Given the description of an element on the screen output the (x, y) to click on. 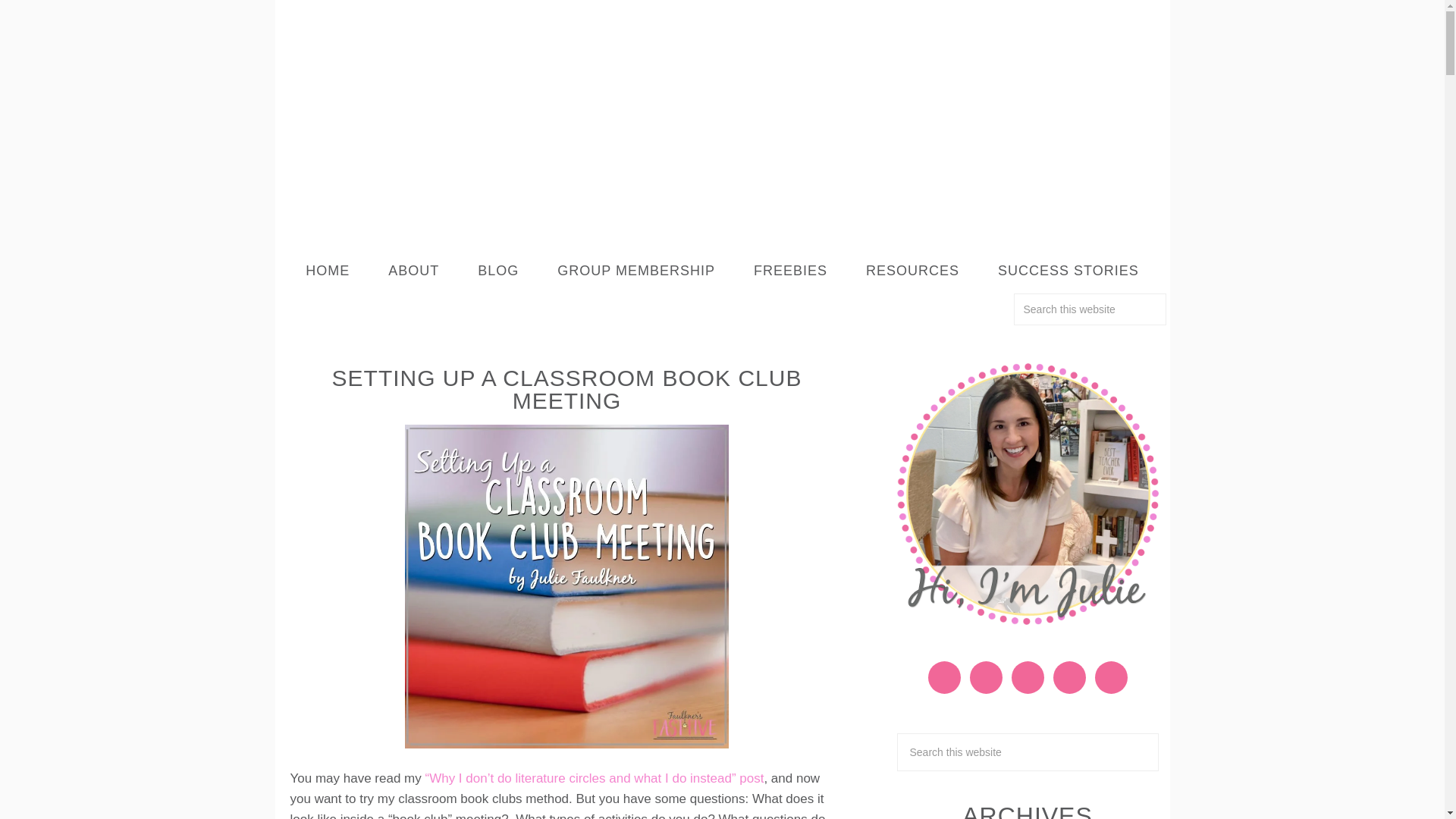
GROUP MEMBERSHIP (636, 270)
Search (1173, 301)
ABOUT (414, 270)
SUCCESS STORIES (1067, 270)
BLOG (497, 270)
FREEBIES (790, 270)
HOME (327, 270)
Search (1173, 301)
RESOURCES (912, 270)
Search (1173, 301)
